Given the description of an element on the screen output the (x, y) to click on. 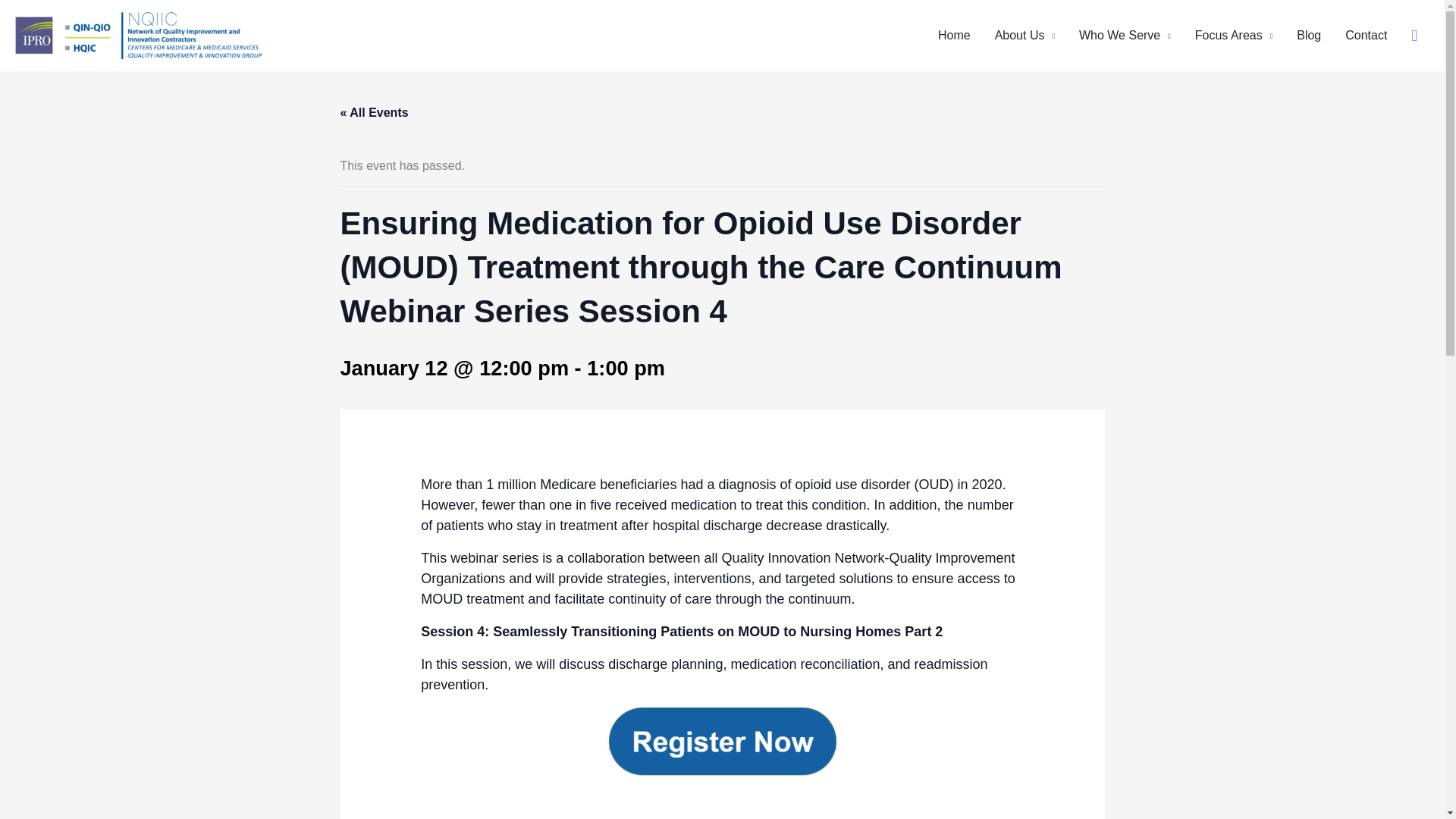
Home (954, 35)
Contact (1366, 35)
About Us (1024, 35)
Blog (1308, 35)
Who We Serve (1124, 35)
Focus Areas (1233, 35)
